Given the description of an element on the screen output the (x, y) to click on. 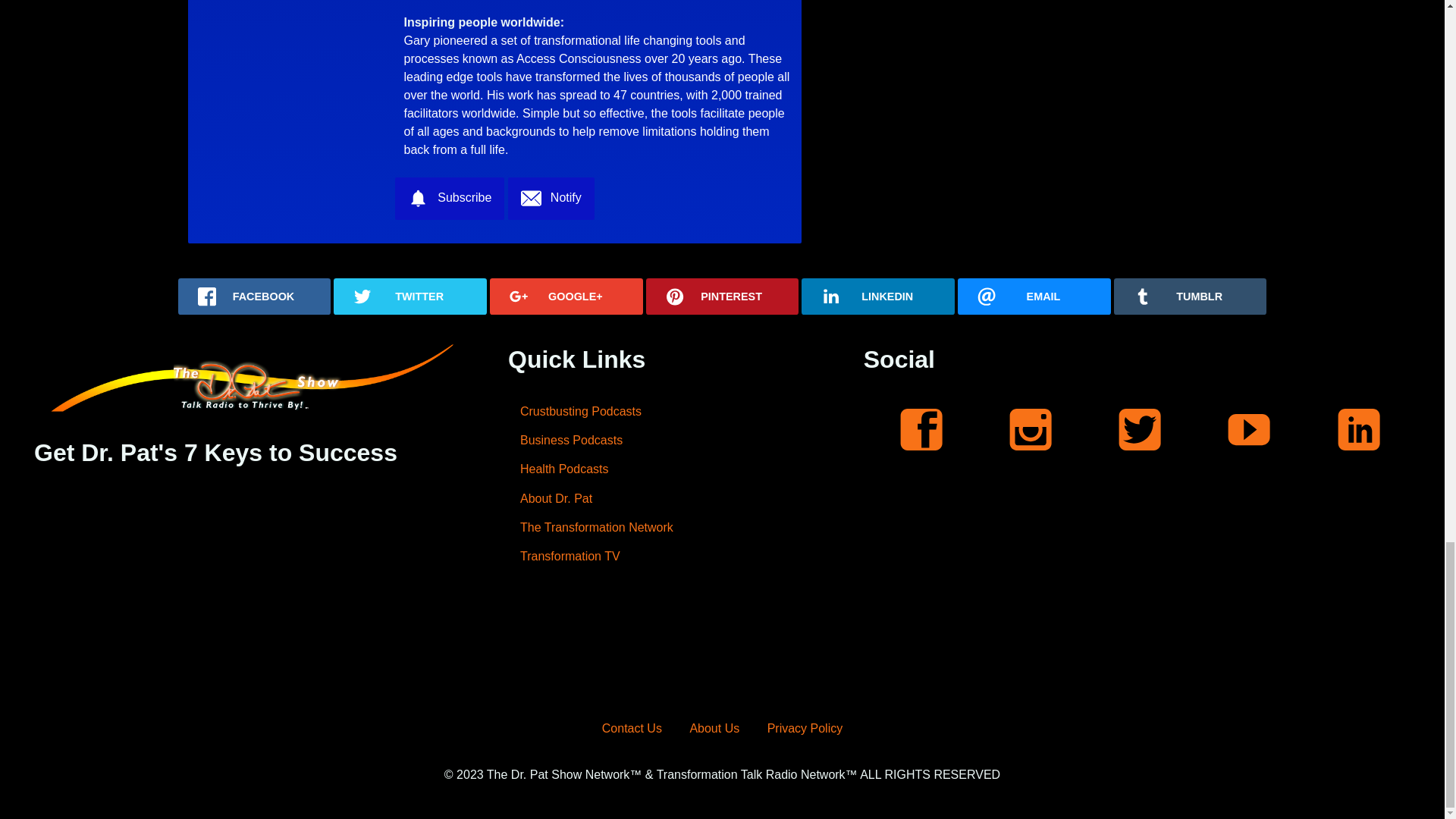
EMAIL (1034, 296)
Health Podcasts (663, 469)
About Dr. Pat (663, 498)
Business Podcasts (663, 440)
 Subscribe (448, 198)
Crustbusting Podcasts (663, 410)
 Notify (551, 198)
Transformation TV (663, 556)
TWITTER (409, 296)
Form 0 (248, 579)
TUMBLR (1189, 296)
The Transformation Network (663, 527)
